Given the description of an element on the screen output the (x, y) to click on. 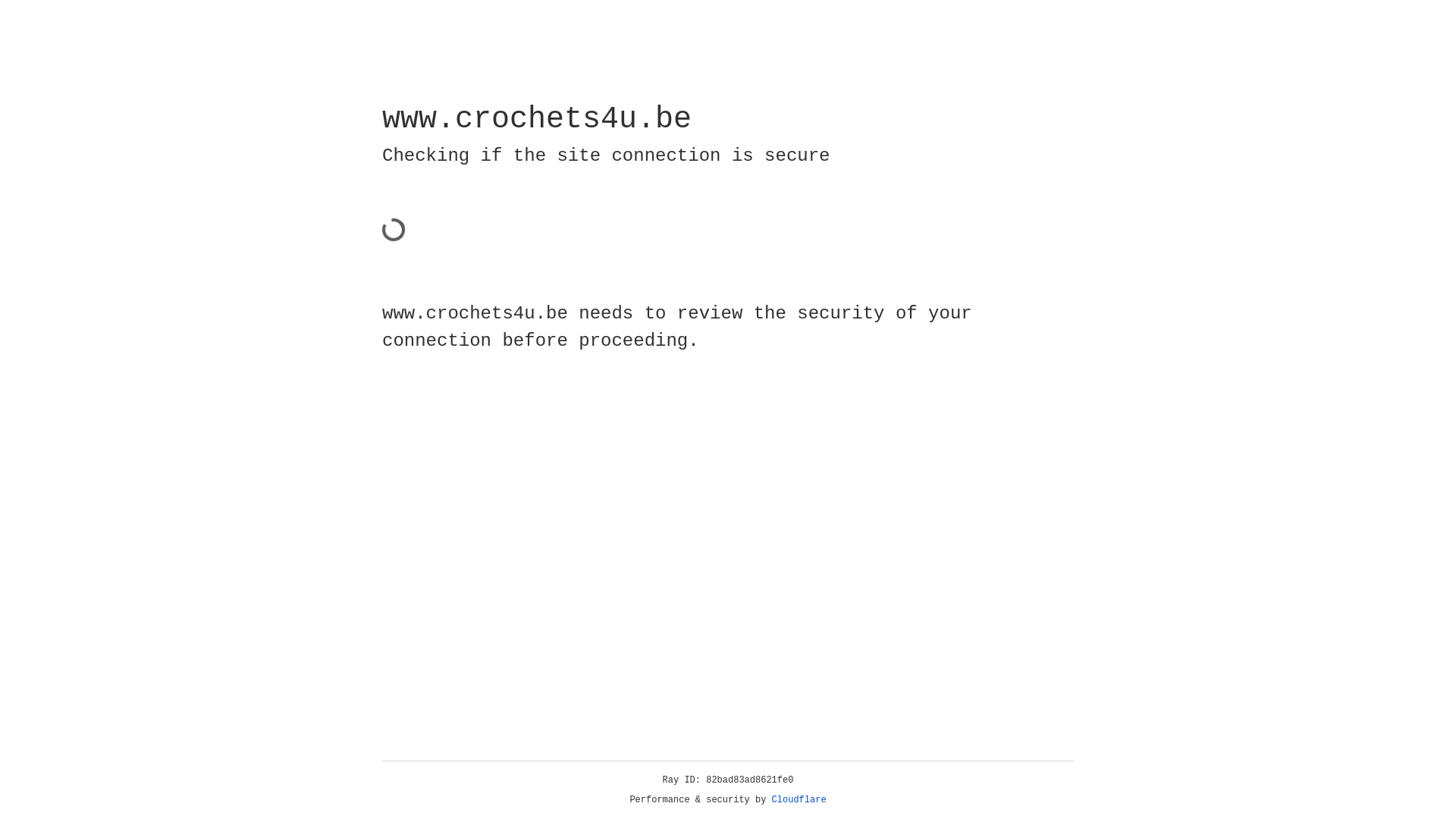
Cloudflare Element type: text (798, 799)
